Given the description of an element on the screen output the (x, y) to click on. 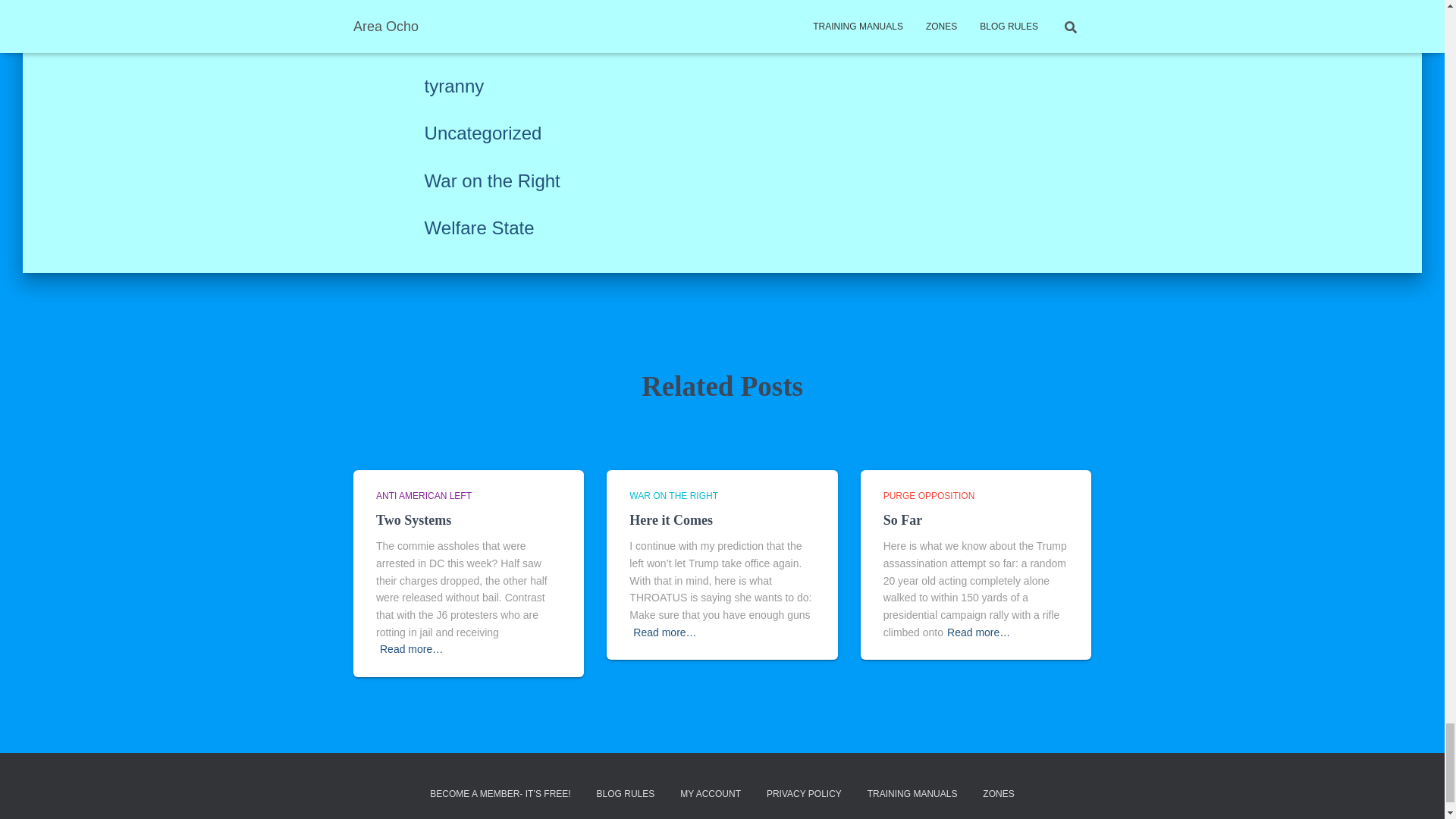
Two Systems (413, 519)
View all posts in Anti American left (423, 495)
Here it Comes (670, 519)
So Far (903, 519)
View all posts in Purge opposition (929, 495)
View all posts in War on the Right (672, 495)
